Given the description of an element on the screen output the (x, y) to click on. 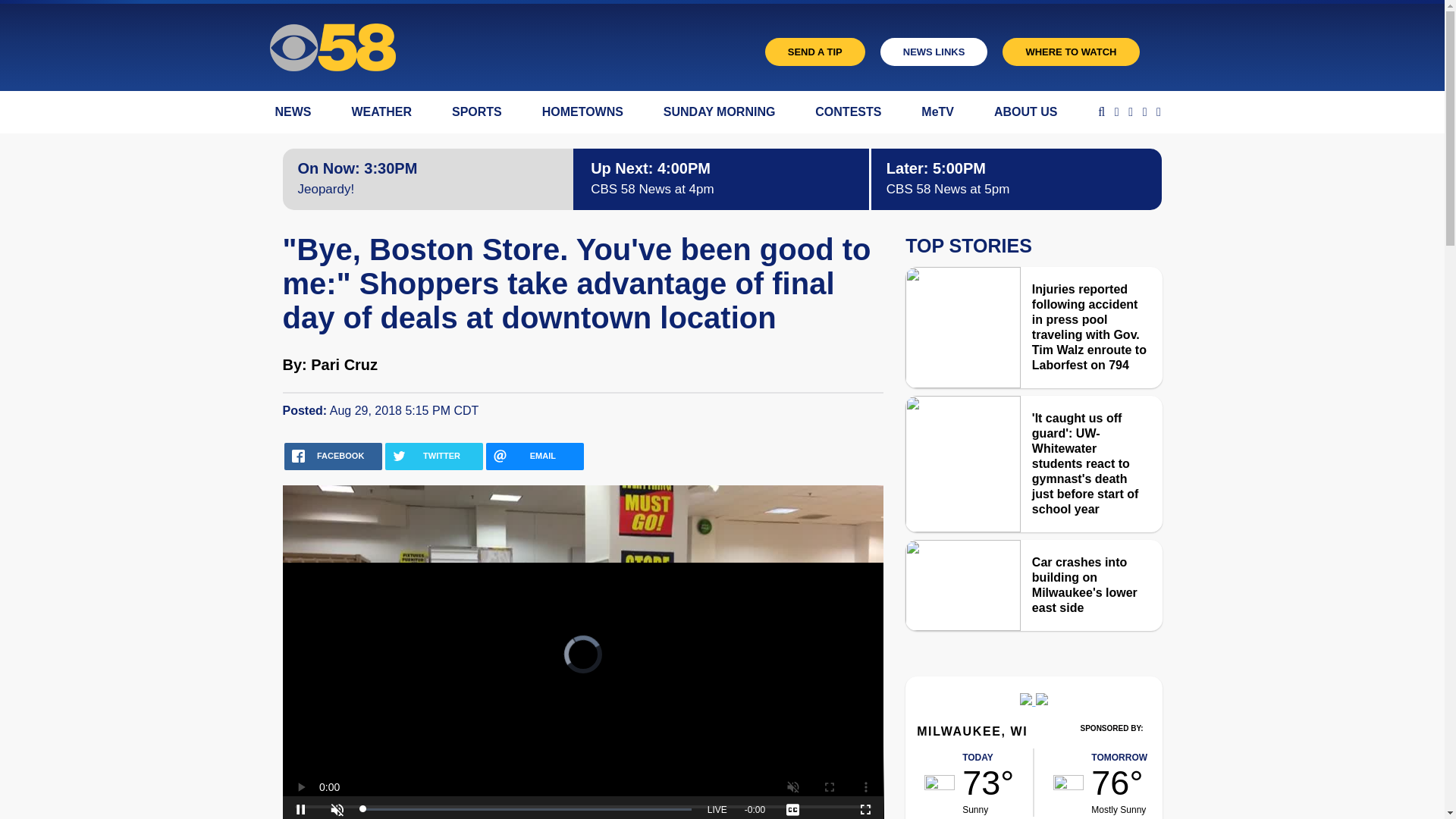
Captions (792, 807)
Seek to live, currently behind live (716, 807)
Fullscreen (865, 807)
weather (939, 782)
Pause (300, 807)
Unmute (336, 807)
Weather (1033, 700)
Picture-in-Picture (828, 807)
